Given the description of an element on the screen output the (x, y) to click on. 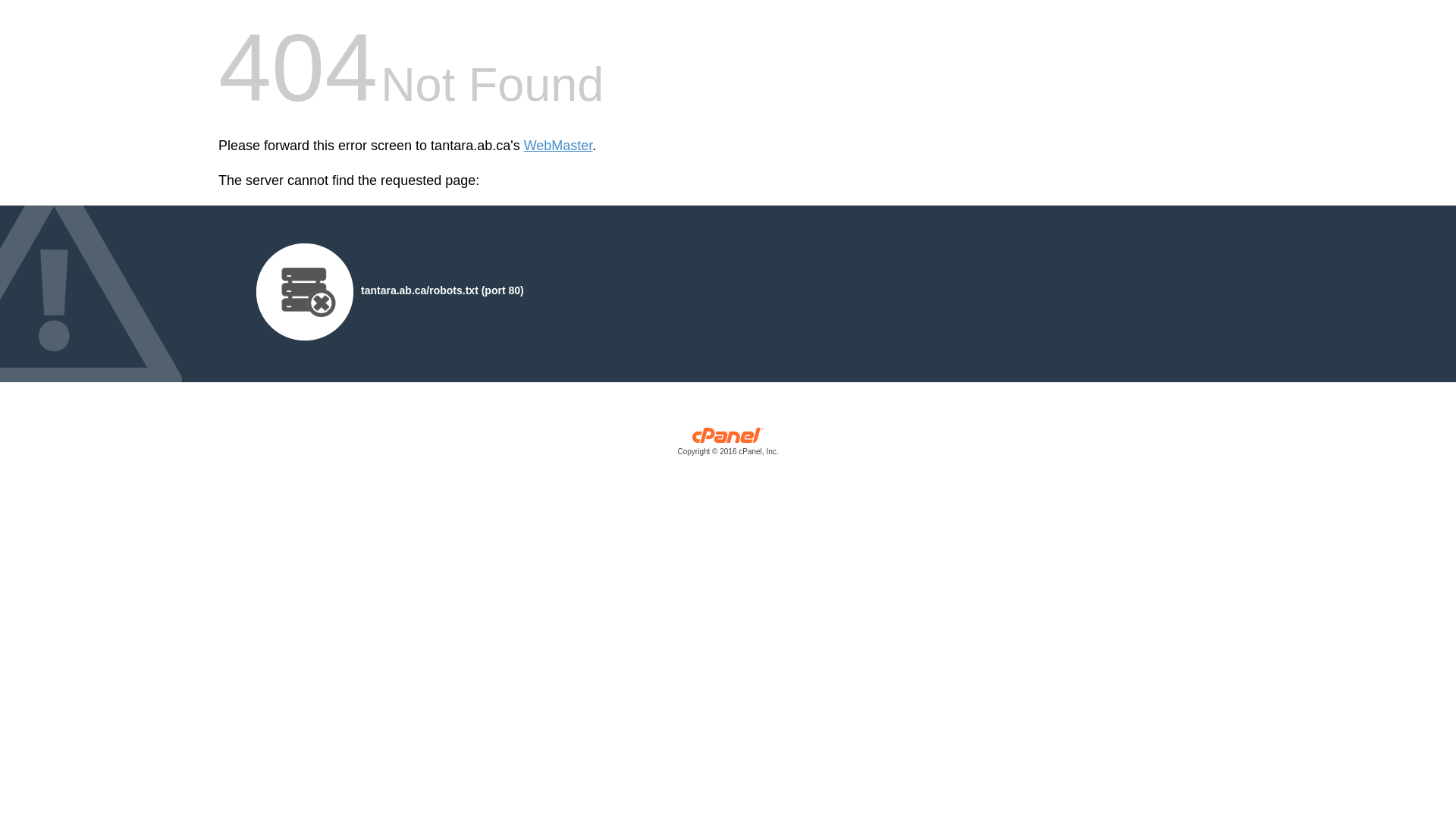
WebMaster Element type: text (558, 145)
